Given the description of an element on the screen output the (x, y) to click on. 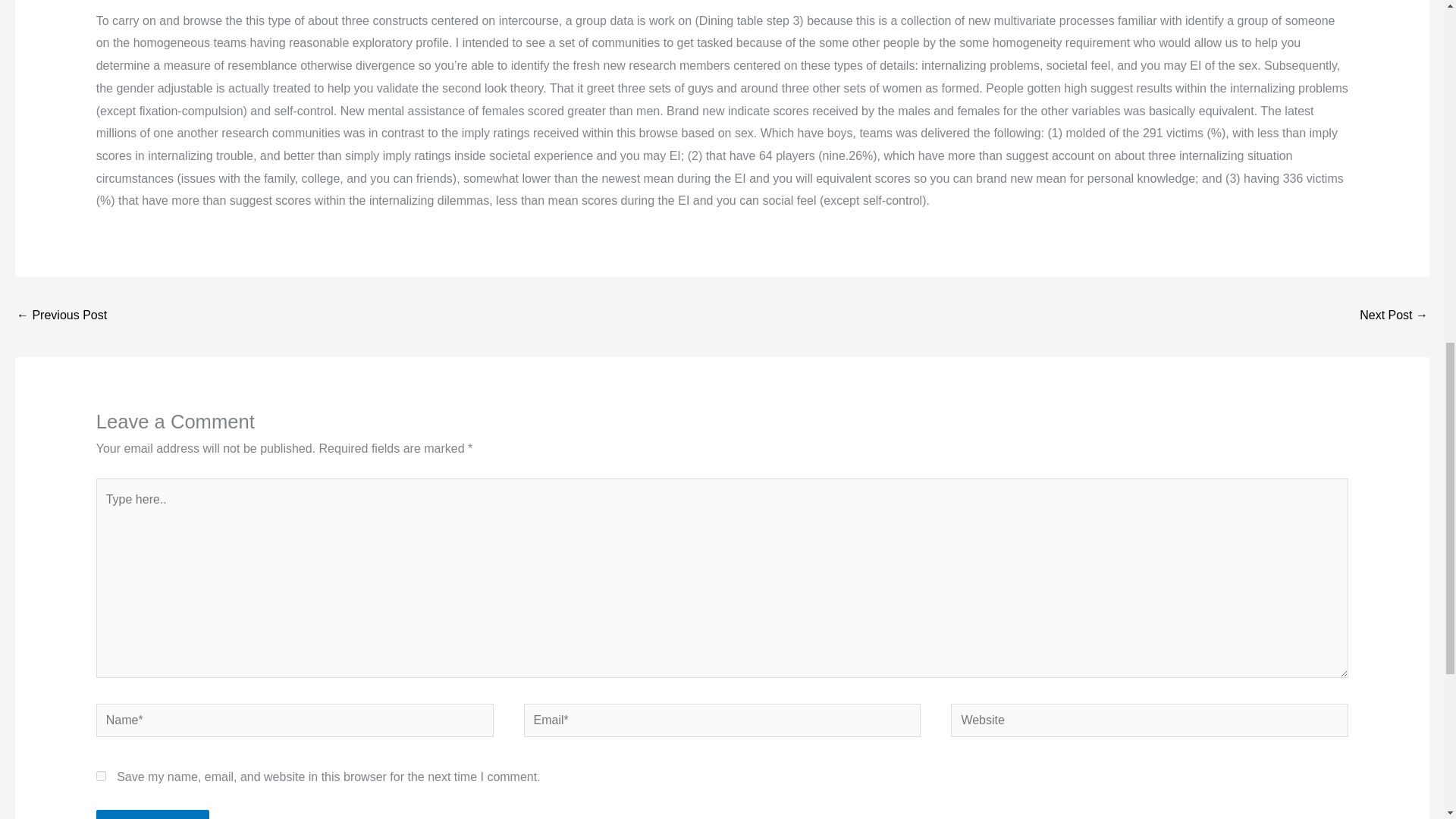
Unique gamingclub casino Casino (61, 316)
yes (101, 776)
